Given the description of an element on the screen output the (x, y) to click on. 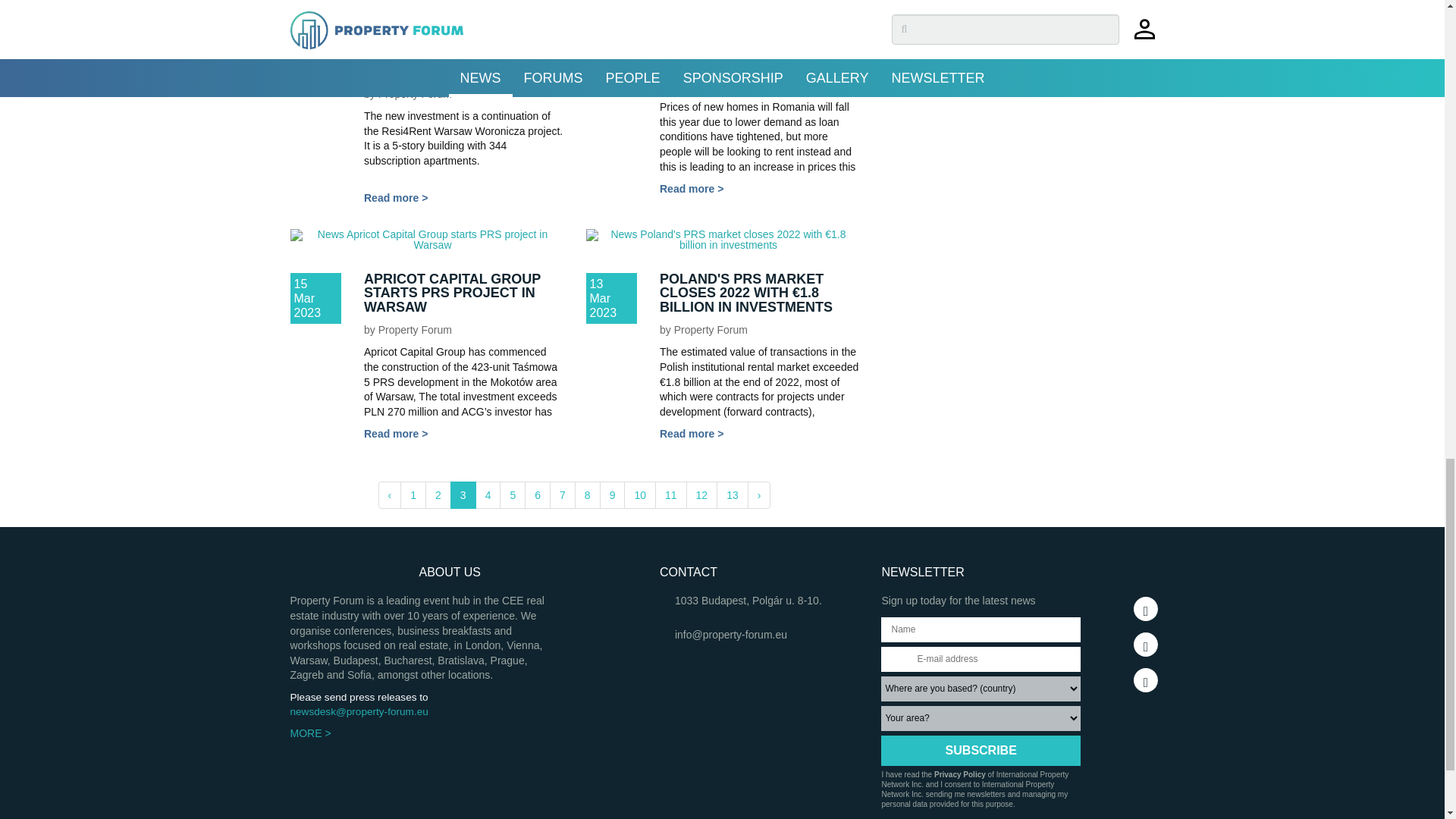
 SUBSCRIBE  (980, 750)
